Given the description of an element on the screen output the (x, y) to click on. 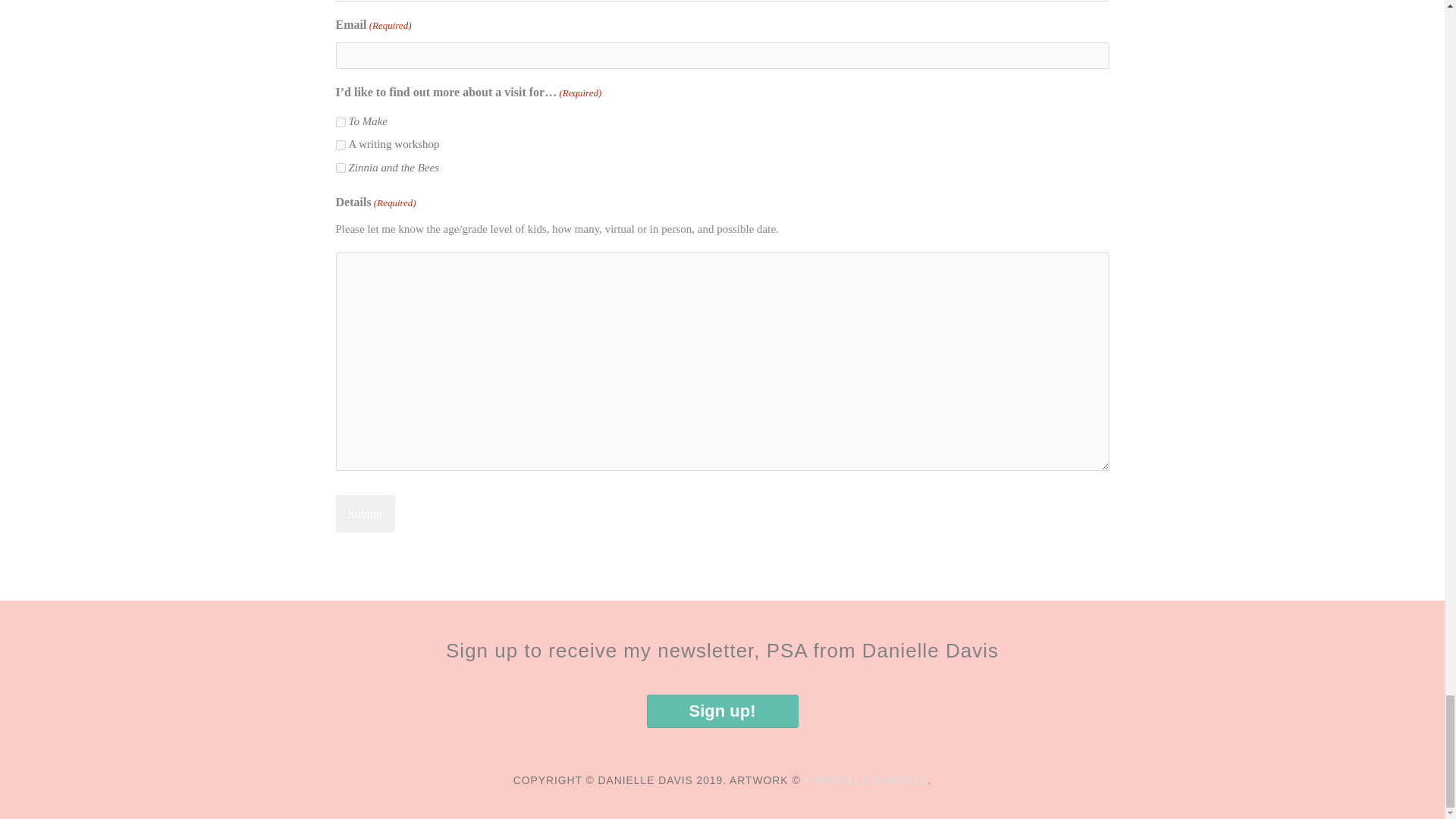
A writing workshop (339, 144)
Submit (364, 513)
